Given the description of an element on the screen output the (x, y) to click on. 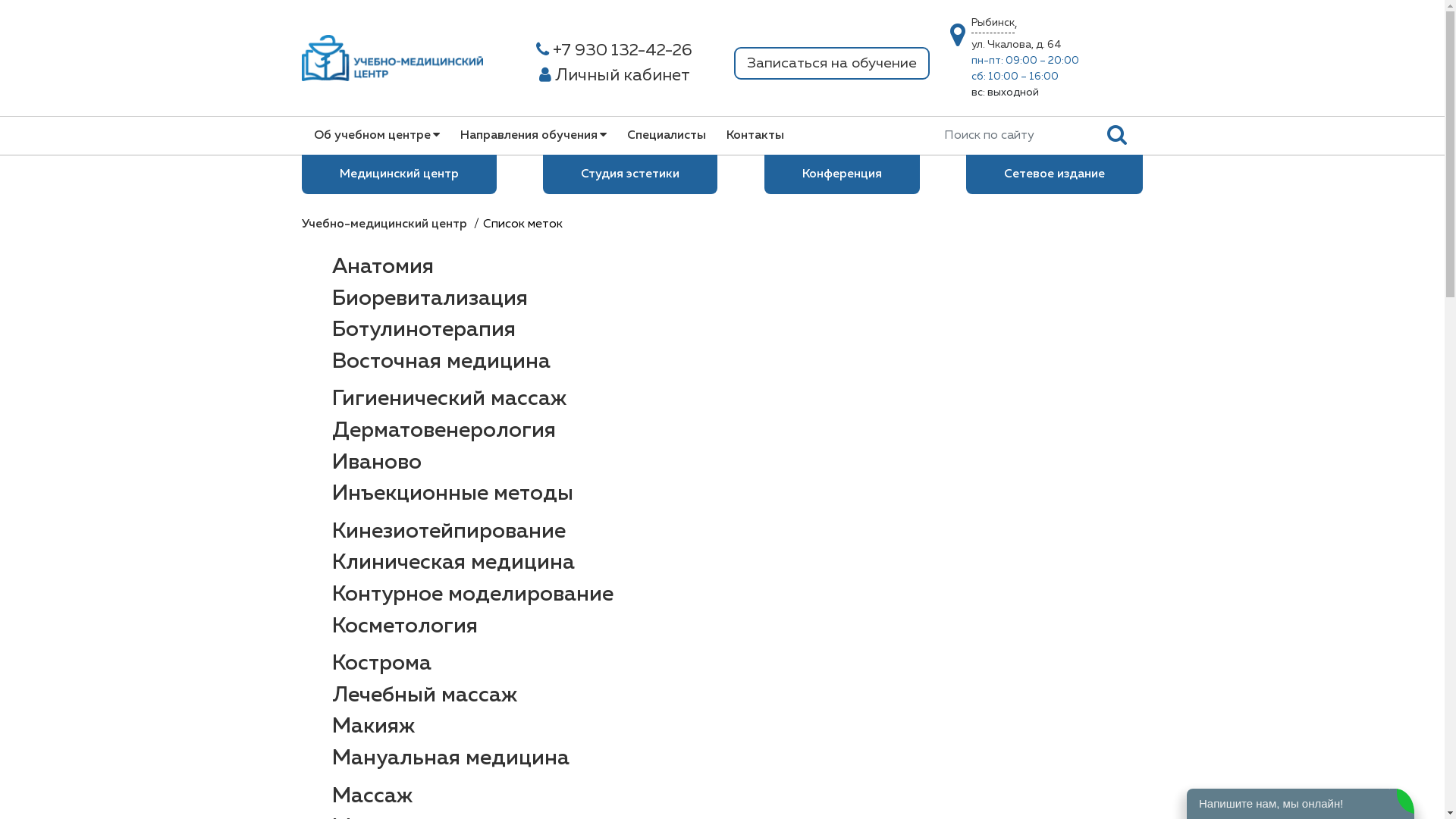
 +7 930 132-42-26 Element type: text (613, 50)
